Given the description of an element on the screen output the (x, y) to click on. 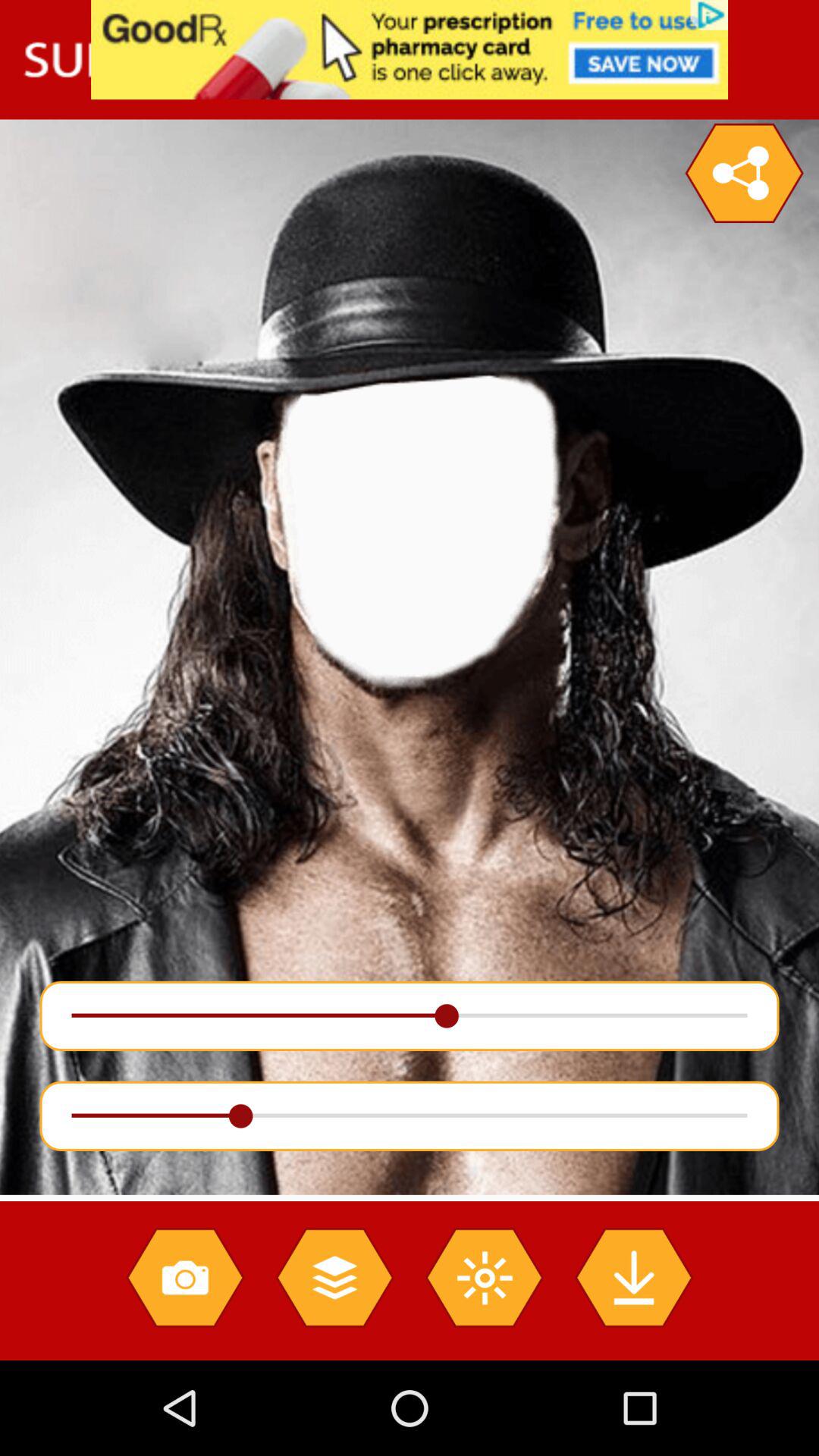
brightness button (484, 1277)
